Given the description of an element on the screen output the (x, y) to click on. 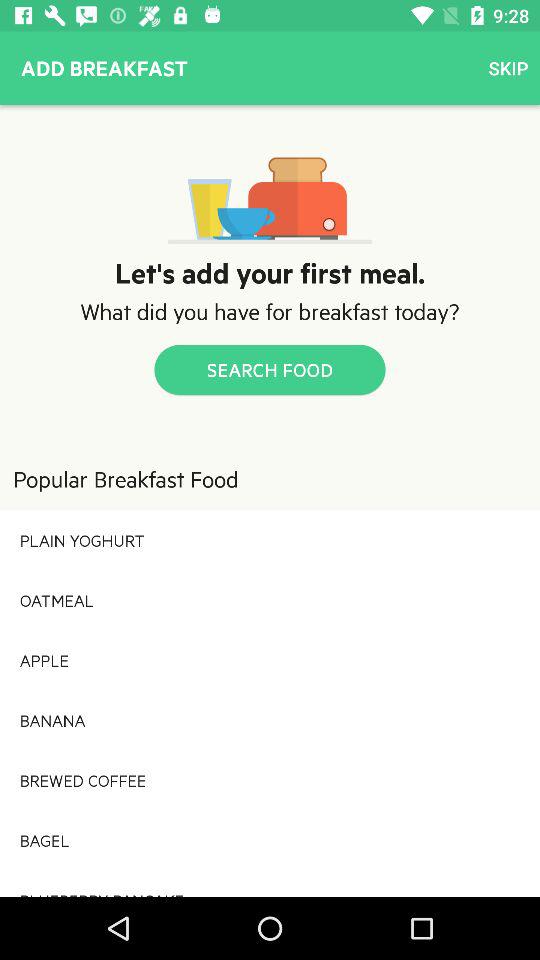
tap the brewed coffee (270, 780)
